Given the description of an element on the screen output the (x, y) to click on. 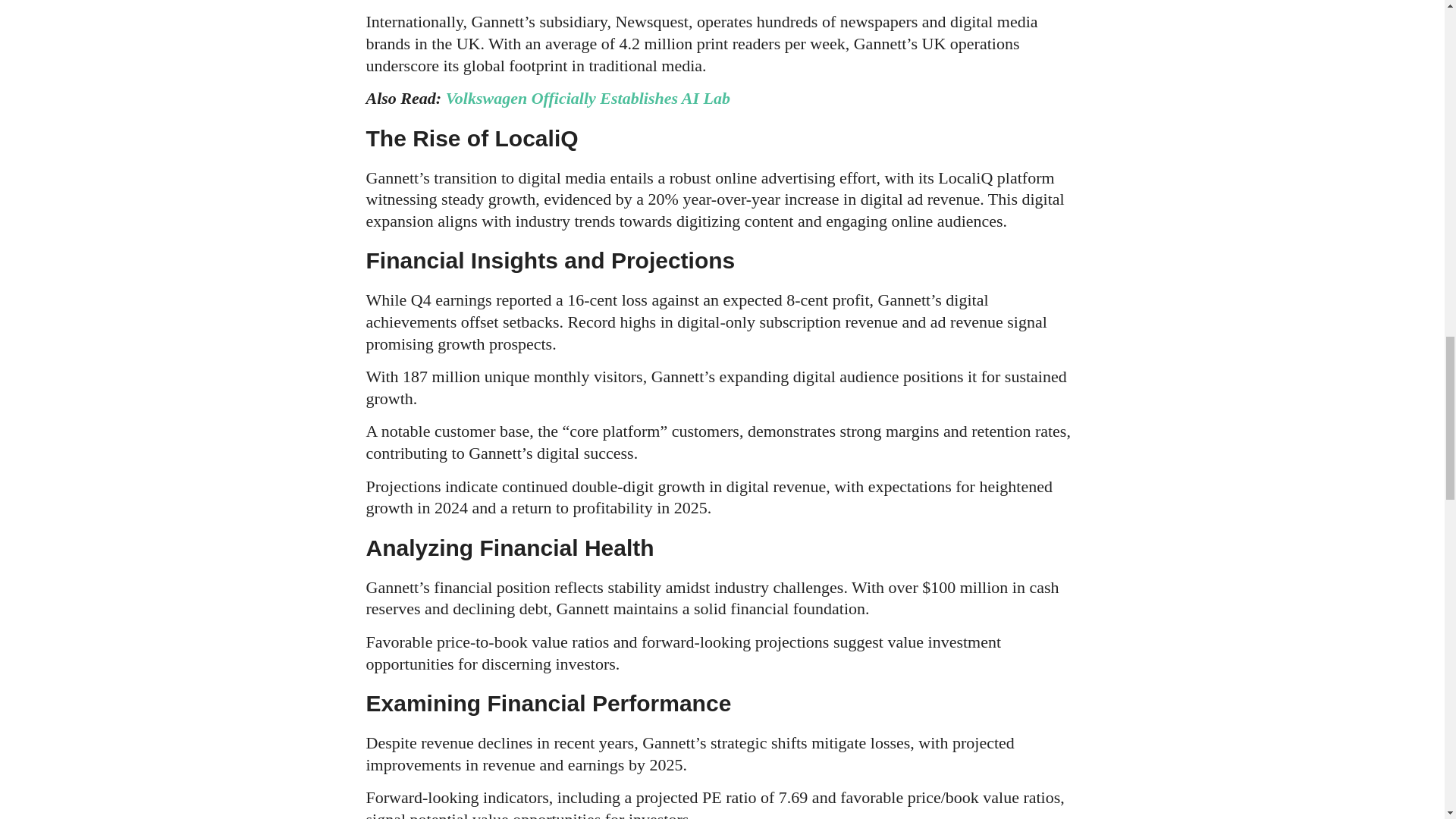
Volkswagen Officially Establishes AI Lab (587, 97)
